Given the description of an element on the screen output the (x, y) to click on. 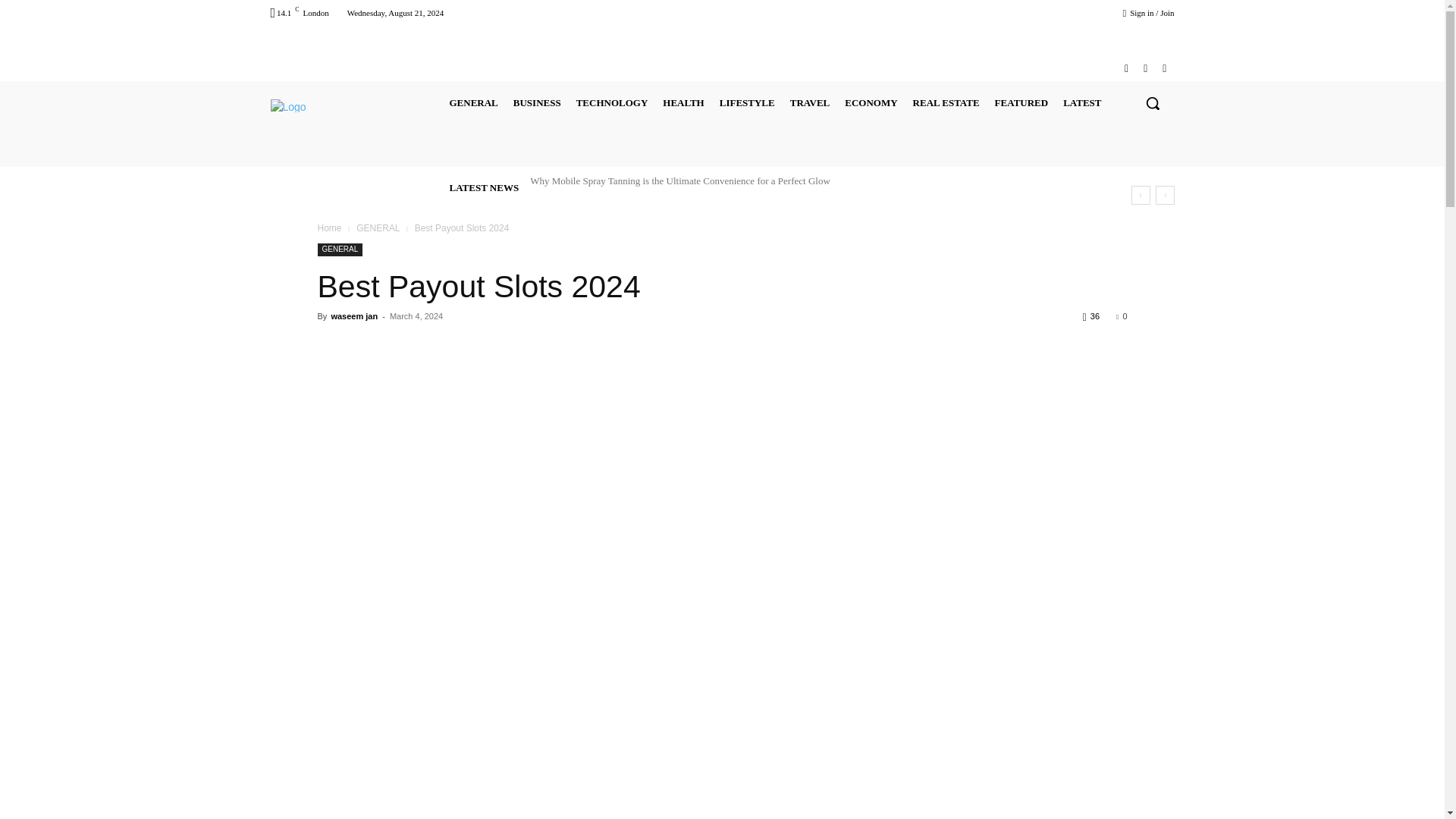
GENERAL (472, 102)
BUSINESS (536, 102)
LIFESTYLE (746, 102)
TECHNOLOGY (611, 102)
ECONOMY (870, 102)
HEALTH (683, 102)
REAL ESTATE (946, 102)
TRAVEL (809, 102)
